Given the description of an element on the screen output the (x, y) to click on. 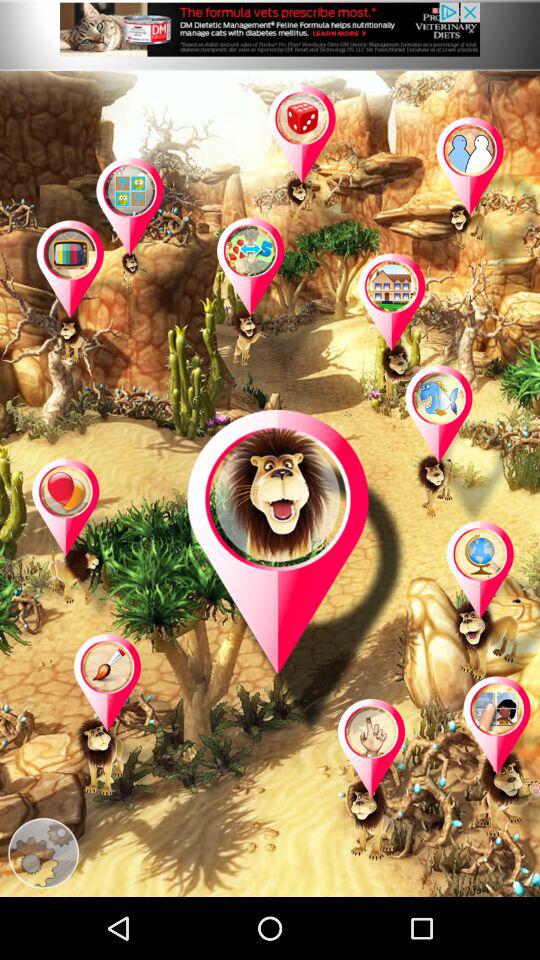
change app settings (43, 853)
